Given the description of an element on the screen output the (x, y) to click on. 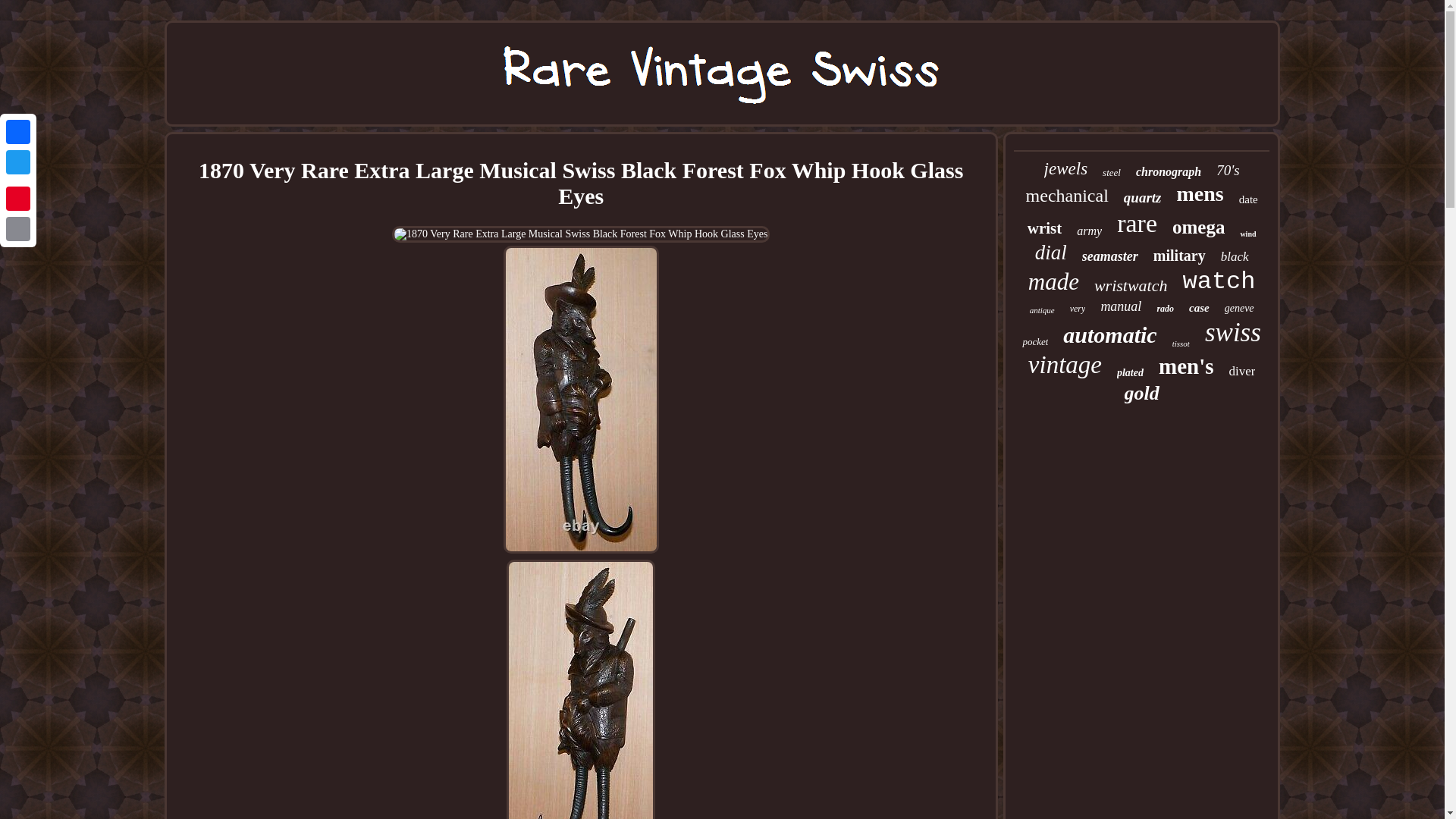
wind (1247, 234)
wrist (1044, 228)
jewels (1065, 168)
Pinterest (17, 198)
Facebook (17, 132)
rado (1164, 308)
quartz (1142, 197)
omega (1198, 227)
wristwatch (1130, 285)
very (1078, 308)
manual (1120, 306)
Twitter (17, 162)
seamaster (1109, 256)
black (1235, 256)
mechanical (1067, 195)
